Given the description of an element on the screen output the (x, y) to click on. 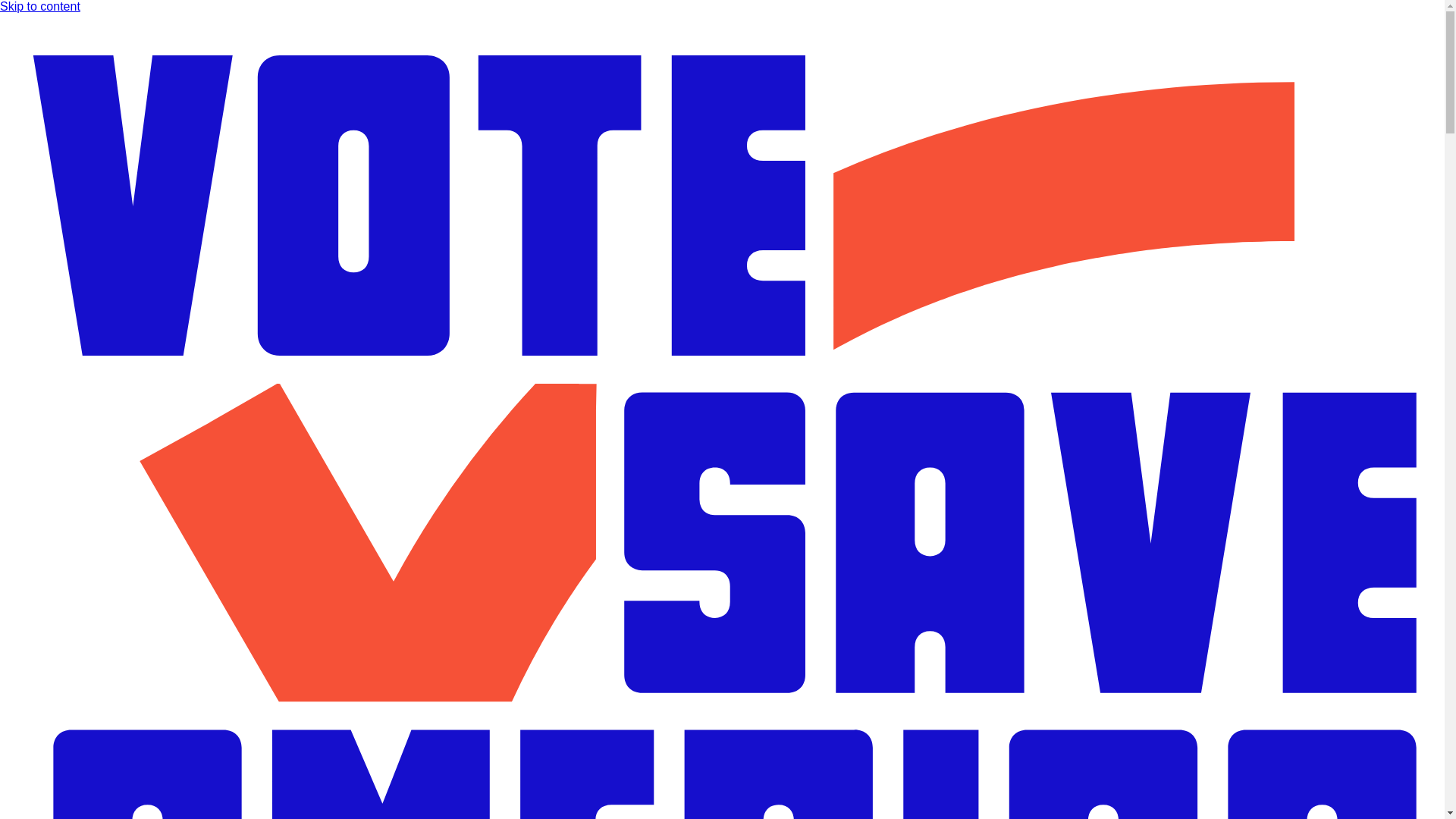
Skip to content (40, 6)
